Given the description of an element on the screen output the (x, y) to click on. 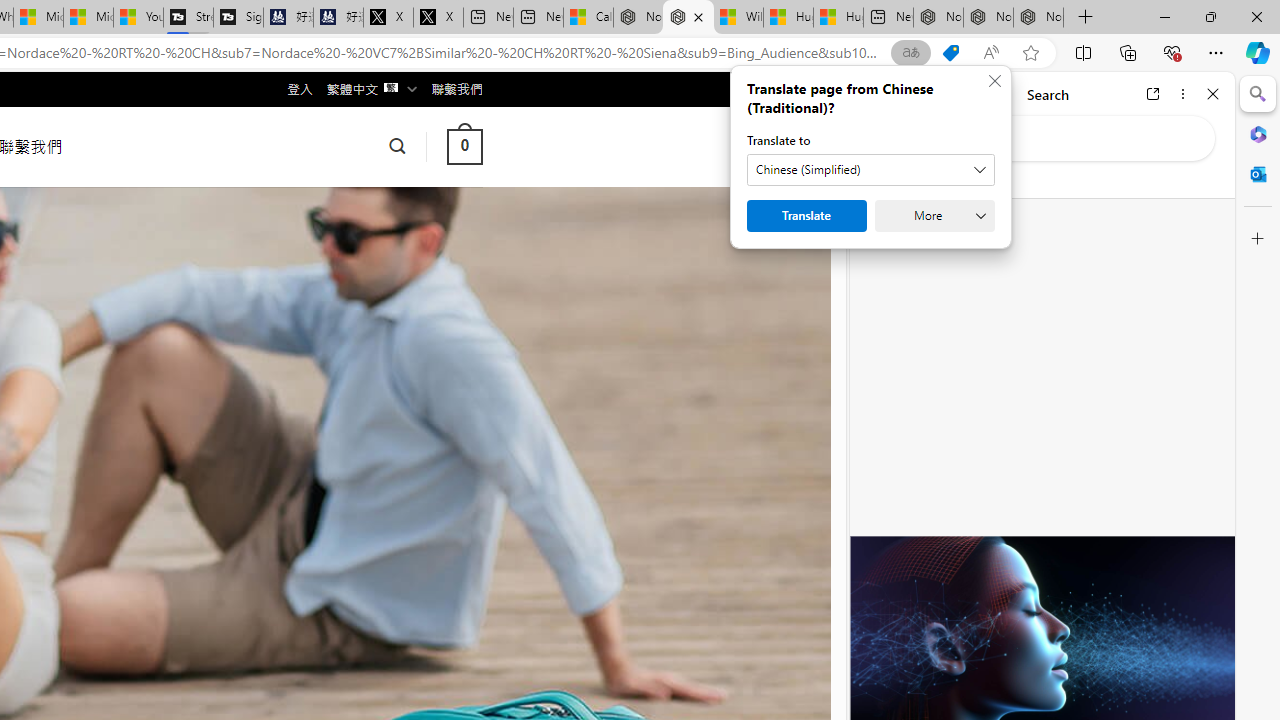
Back (874, 93)
Close (1213, 93)
Nordace - Siena Pro 15 Essential Set (1038, 17)
This site scope (936, 180)
Home (938, 93)
Read aloud this page (Ctrl+Shift+U) (991, 53)
Microsoft 365 (1258, 133)
Open link in new tab (1153, 93)
Microsoft Start (88, 17)
Search (1258, 94)
Search the web (1051, 137)
